Given the description of an element on the screen output the (x, y) to click on. 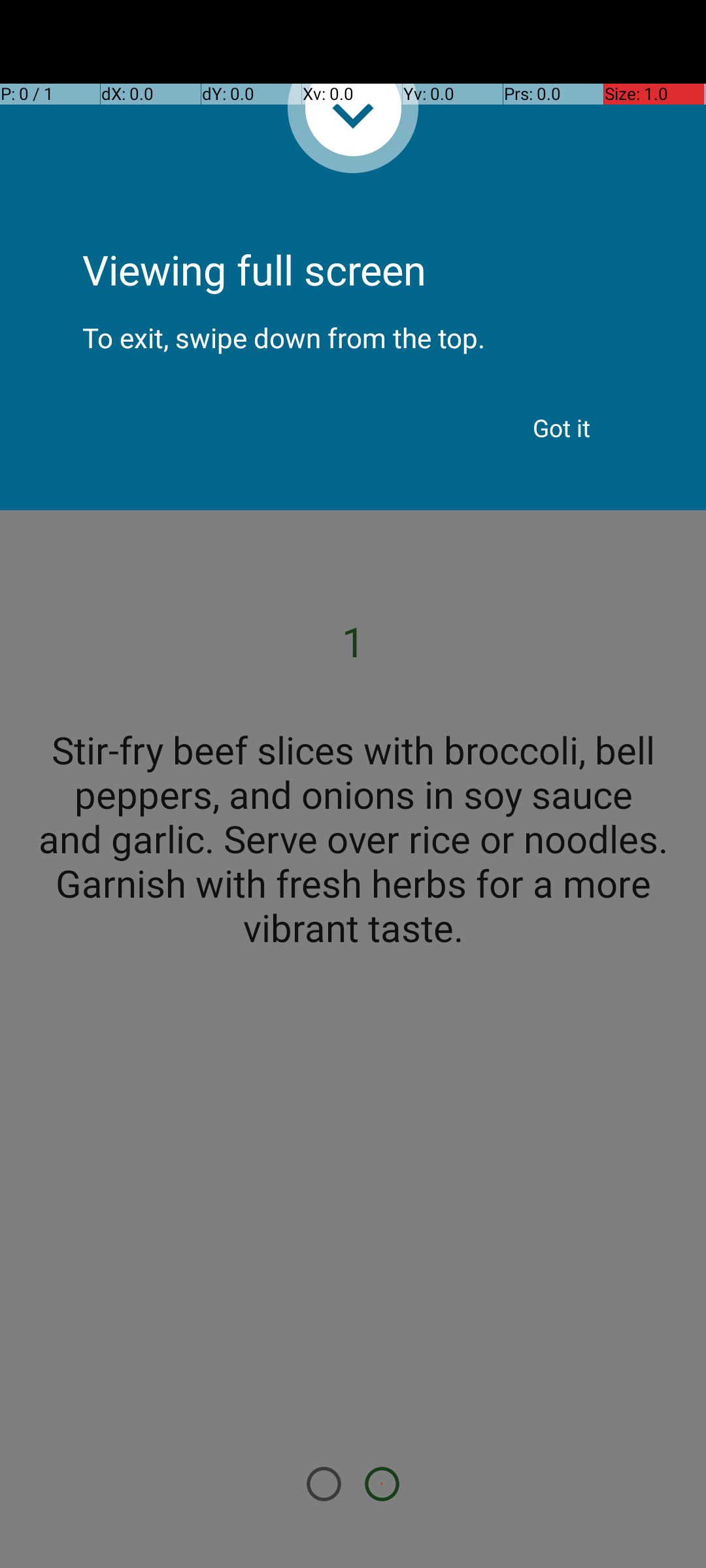
Stir-fry beef slices with broccoli, bell peppers, and onions in soy sauce and garlic. Serve over rice or noodles. Garnish with fresh herbs for a more vibrant taste. Element type: android.widget.TextView (352, 837)
Viewing full screen Element type: android.widget.TextView (353, 235)
To exit, swipe down from the top. Element type: android.widget.TextView (353, 326)
Got it Element type: android.widget.Button (561, 427)
